Given the description of an element on the screen output the (x, y) to click on. 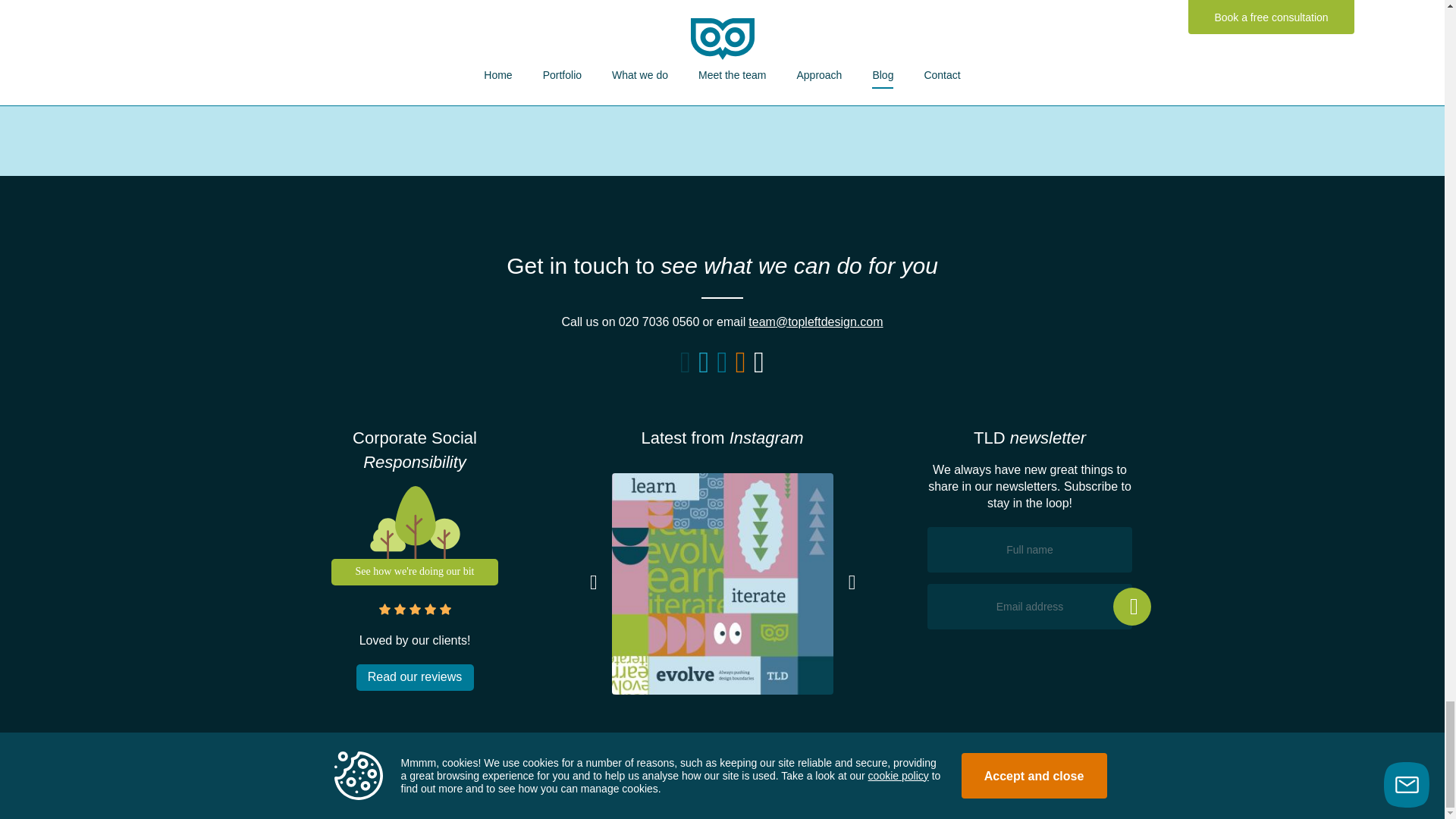
Submit (591, 10)
Next post (708, 81)
